Given the description of an element on the screen output the (x, y) to click on. 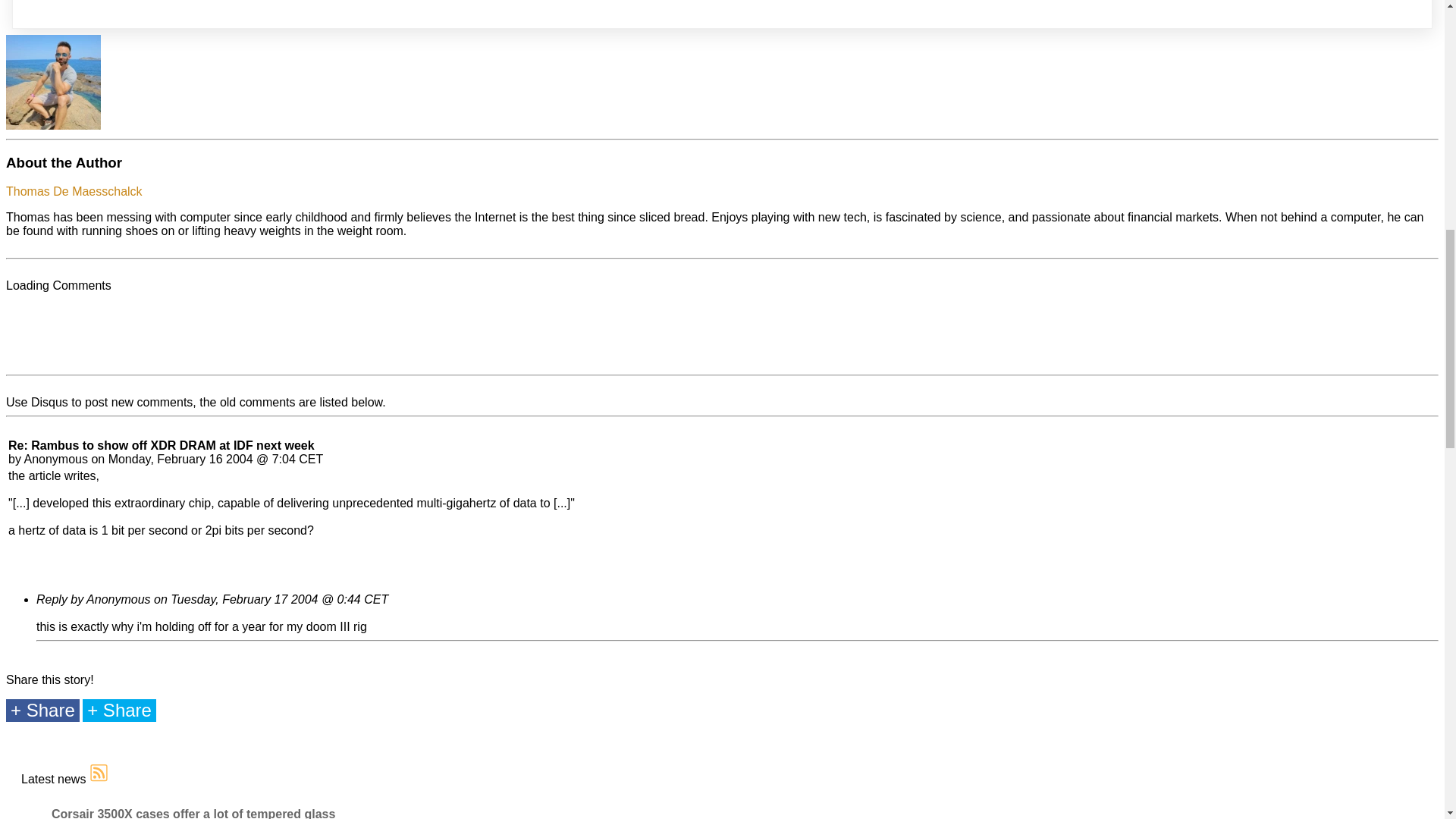
Corsair 3500X cases offer a lot of tempered glass (192, 813)
